Given the description of an element on the screen output the (x, y) to click on. 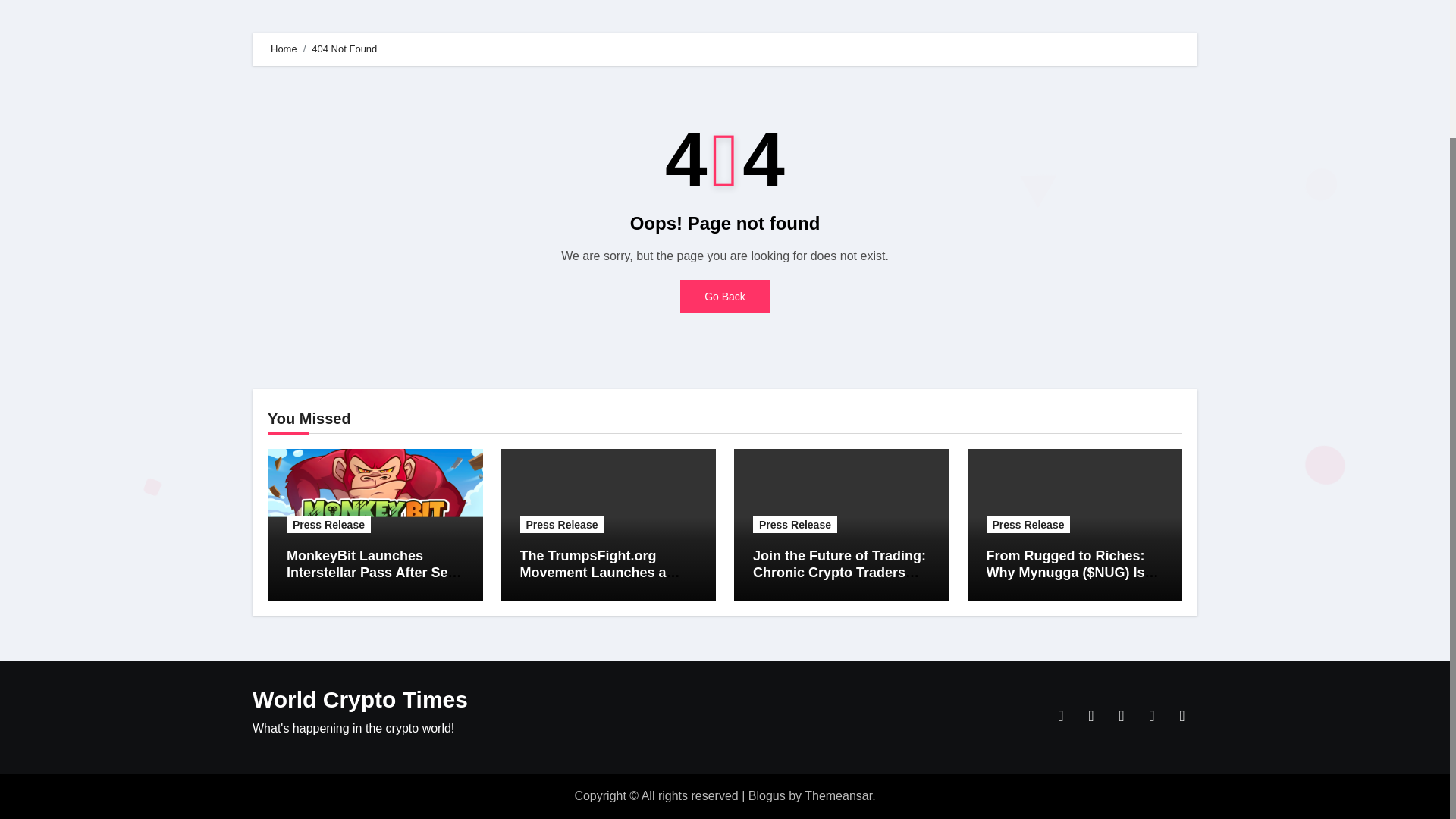
Press Release (328, 524)
Home (283, 48)
Press Release (1027, 524)
Press Release (794, 524)
Go Back (724, 296)
Themeansar (838, 795)
